Given the description of an element on the screen output the (x, y) to click on. 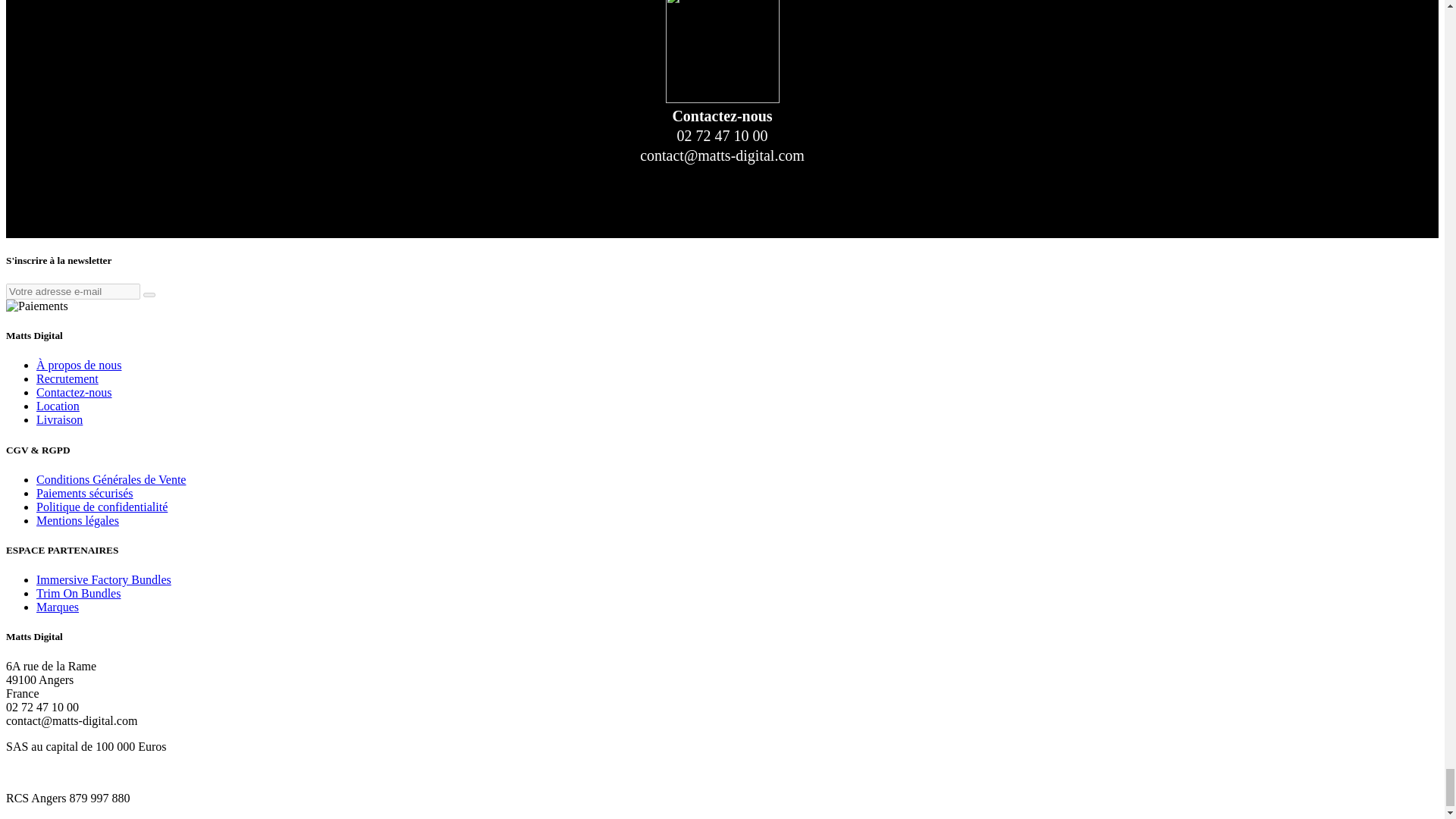
Utiliser le formulaire pour nous contacter (74, 391)
